Given the description of an element on the screen output the (x, y) to click on. 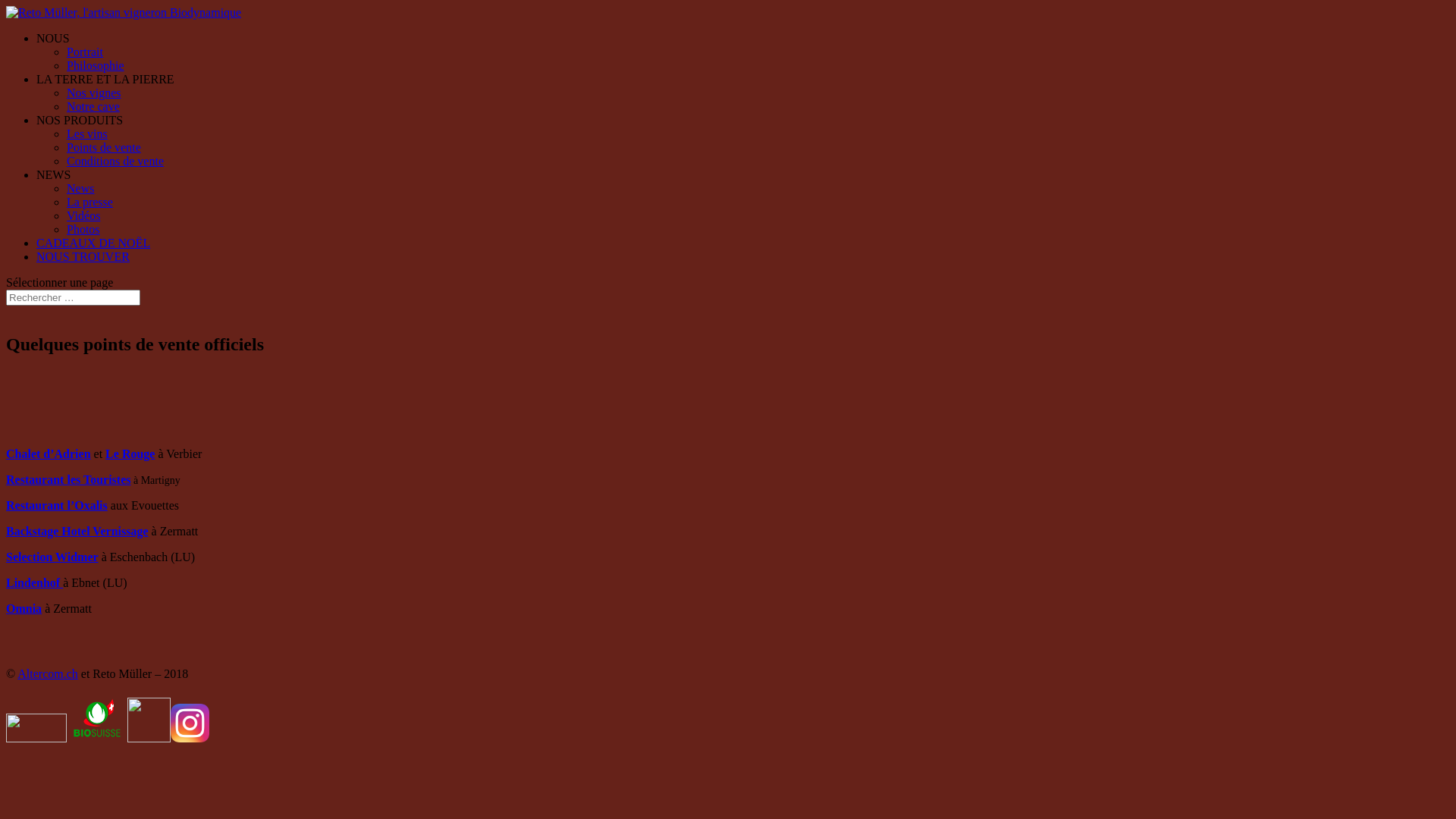
NEWS Element type: text (53, 174)
Conditions de vente Element type: text (114, 160)
Restaurant les Touristes Element type: text (68, 479)
Points de vente Element type: text (103, 147)
Lindenhof  Element type: text (34, 582)
Notre cave Element type: text (92, 106)
Les vins Element type: text (86, 133)
News Element type: text (80, 188)
La presse Element type: text (89, 201)
Portrait Element type: text (84, 51)
Philosophie Element type: text (95, 65)
Selection Widmer Element type: text (52, 556)
Rechercher: Element type: hover (73, 297)
NOS PRODUITS Element type: text (79, 119)
Le Rouge Element type: text (129, 453)
Nos vignes Element type: text (93, 92)
NOUS TROUVER Element type: text (82, 256)
Altercom.ch Element type: text (47, 673)
LA TERRE ET LA PIERRE Element type: text (105, 78)
Omnia Element type: text (23, 608)
NOUS Element type: text (52, 37)
Backstage Hotel Vernissage Element type: text (77, 530)
Photos Element type: text (83, 228)
